Given the description of an element on the screen output the (x, y) to click on. 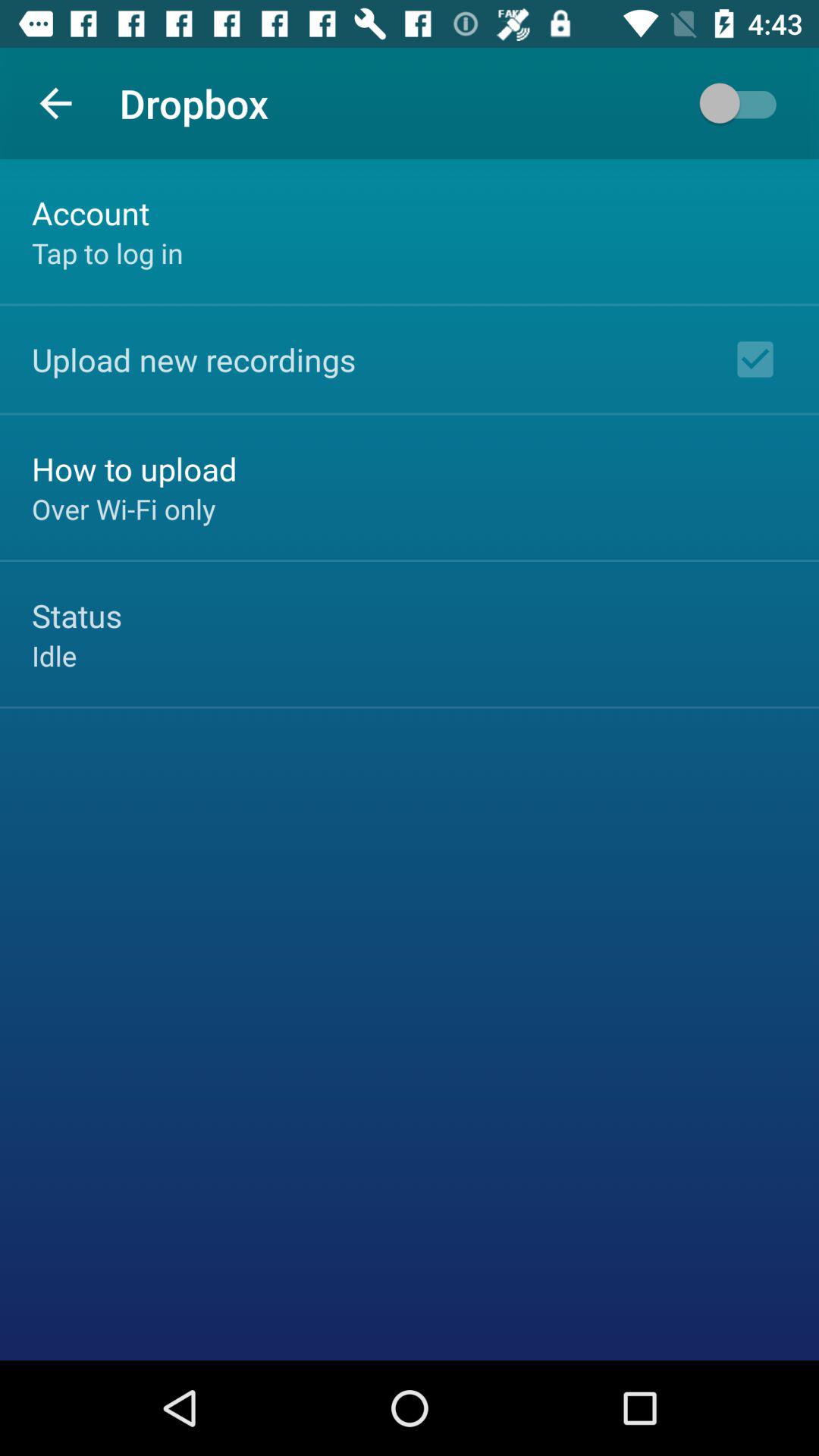
turn off upload new recordings (193, 359)
